Given the description of an element on the screen output the (x, y) to click on. 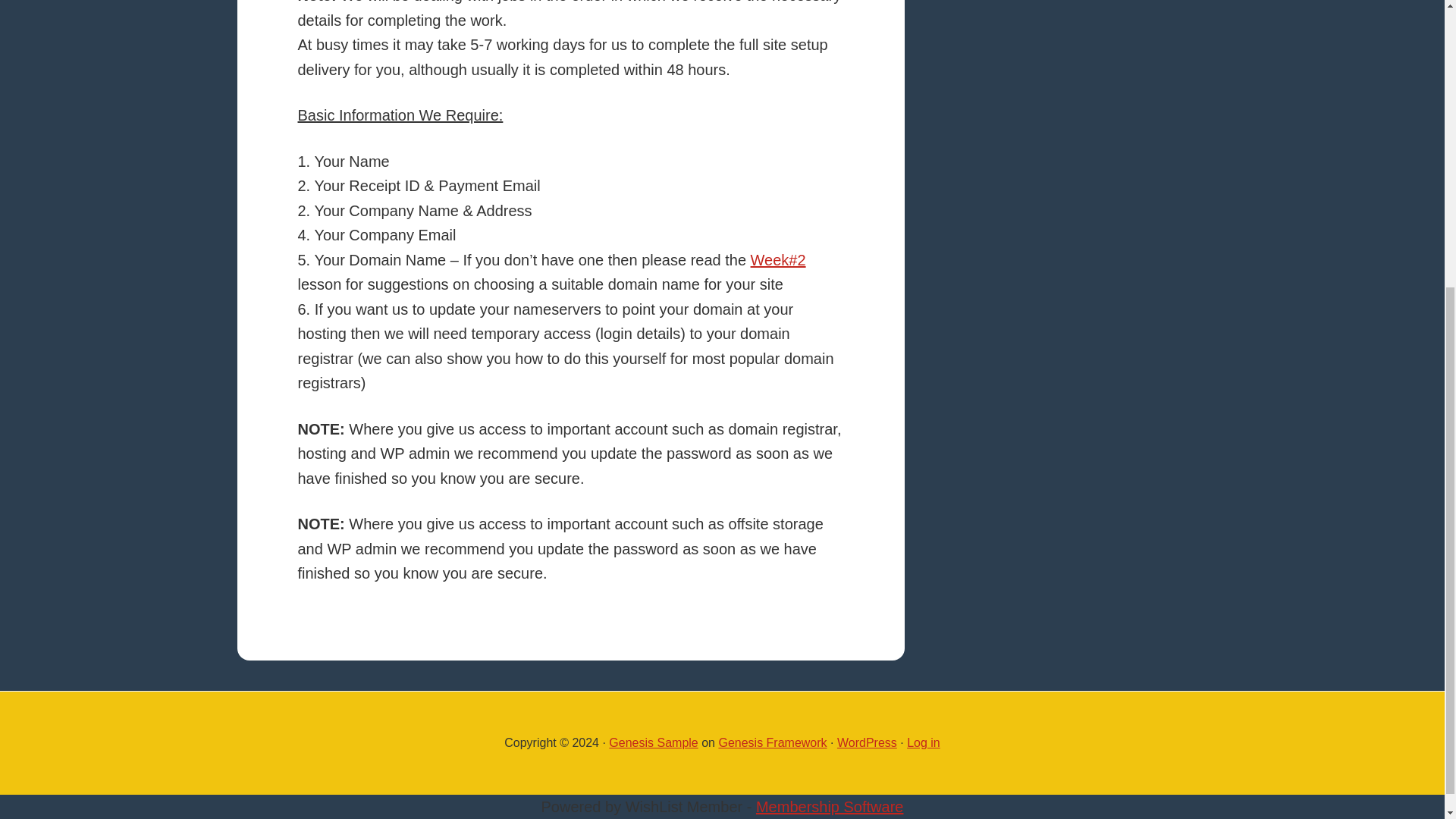
Log in (923, 742)
Membership Software (829, 806)
Genesis Sample (652, 742)
Membership Software (829, 806)
WordPress (866, 742)
Genesis Framework (772, 742)
